Given the description of an element on the screen output the (x, y) to click on. 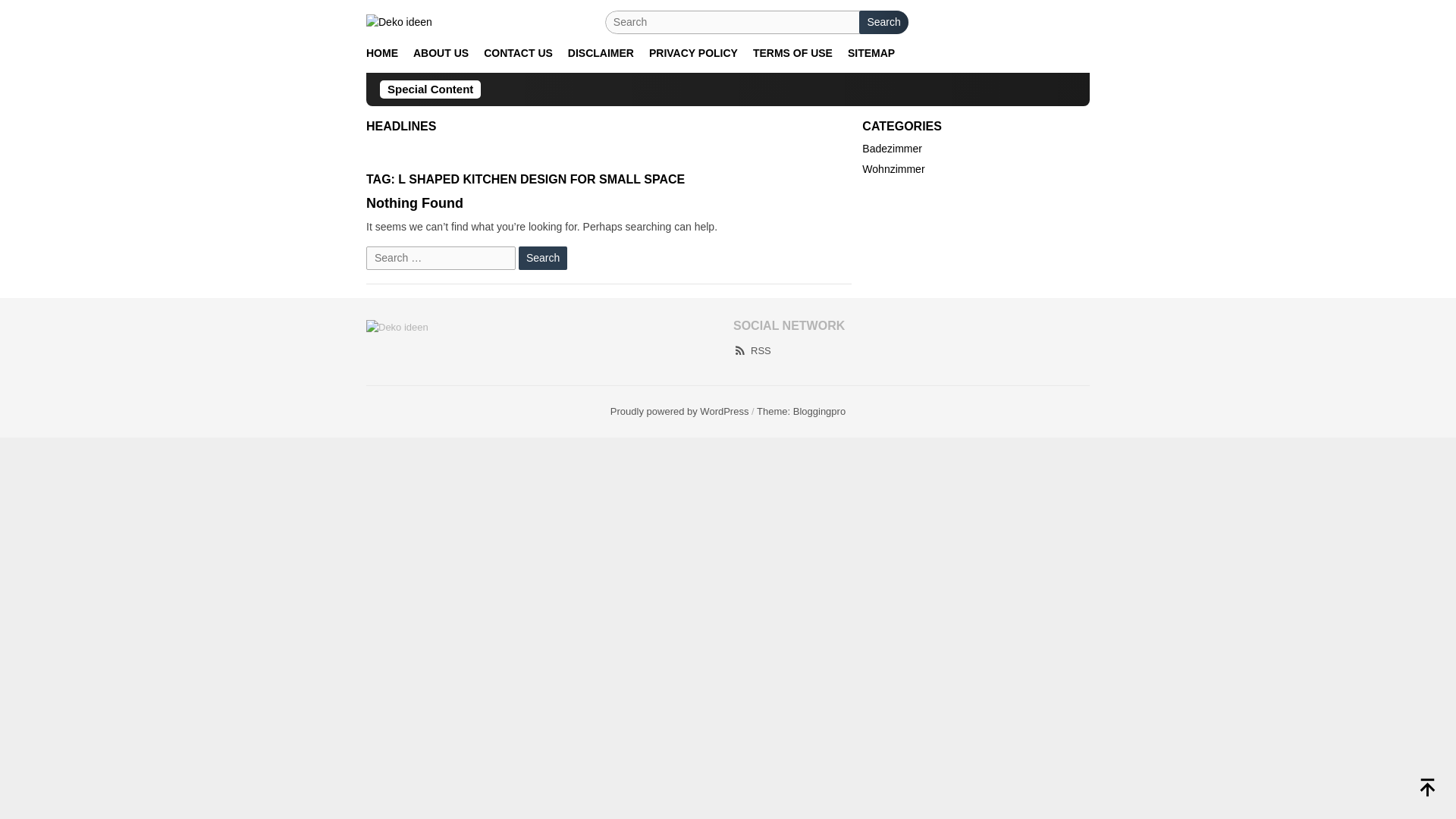
Search (542, 258)
PRIVACY POLICY (693, 53)
RSS (752, 350)
Search (883, 22)
Search (542, 258)
TERMS OF USE (792, 53)
Theme: Bloggingpro (801, 410)
Proudly powered by WordPress (679, 410)
Wohnzimmer (892, 168)
CONTACT US (518, 53)
ABOUT US (441, 53)
Badezimmer (891, 148)
SITEMAP (871, 53)
Deko ideen (399, 21)
